Given the description of an element on the screen output the (x, y) to click on. 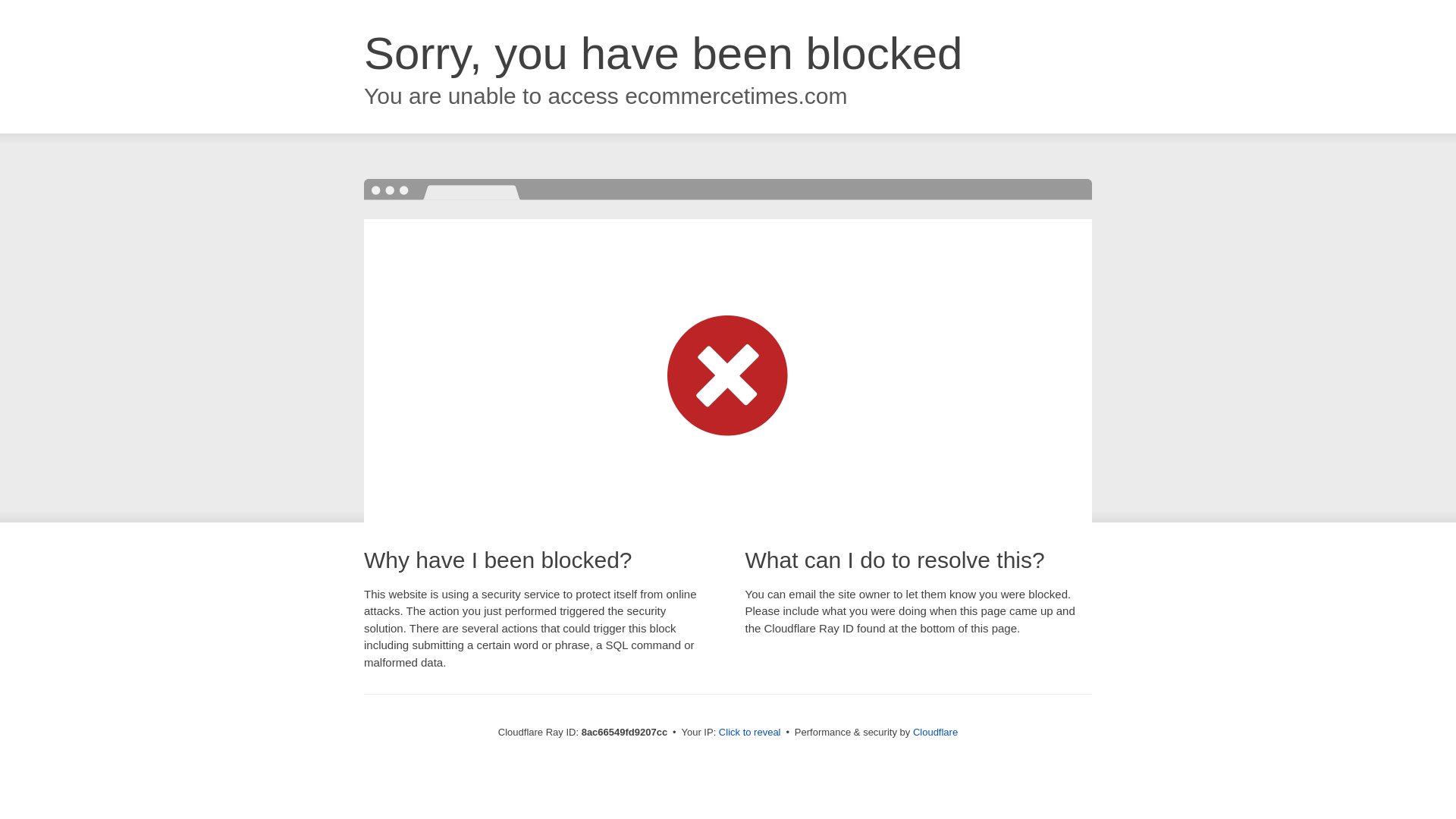
Click to reveal (749, 732)
Cloudflare (935, 731)
